Given the description of an element on the screen output the (x, y) to click on. 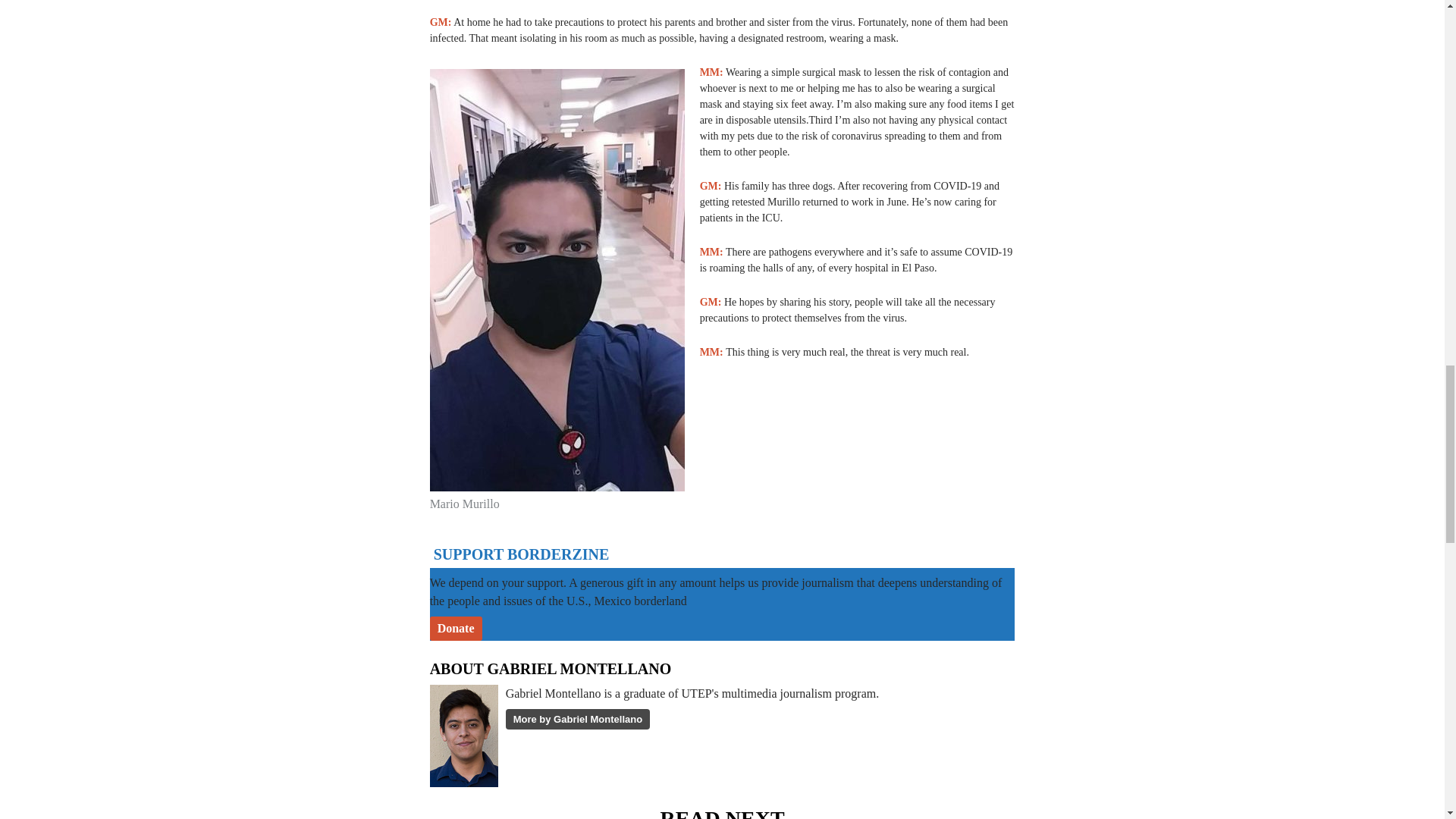
See all posts by Gabriel Montellano (577, 719)
See all posts by Gabriel Montellano (578, 668)
